Given the description of an element on the screen output the (x, y) to click on. 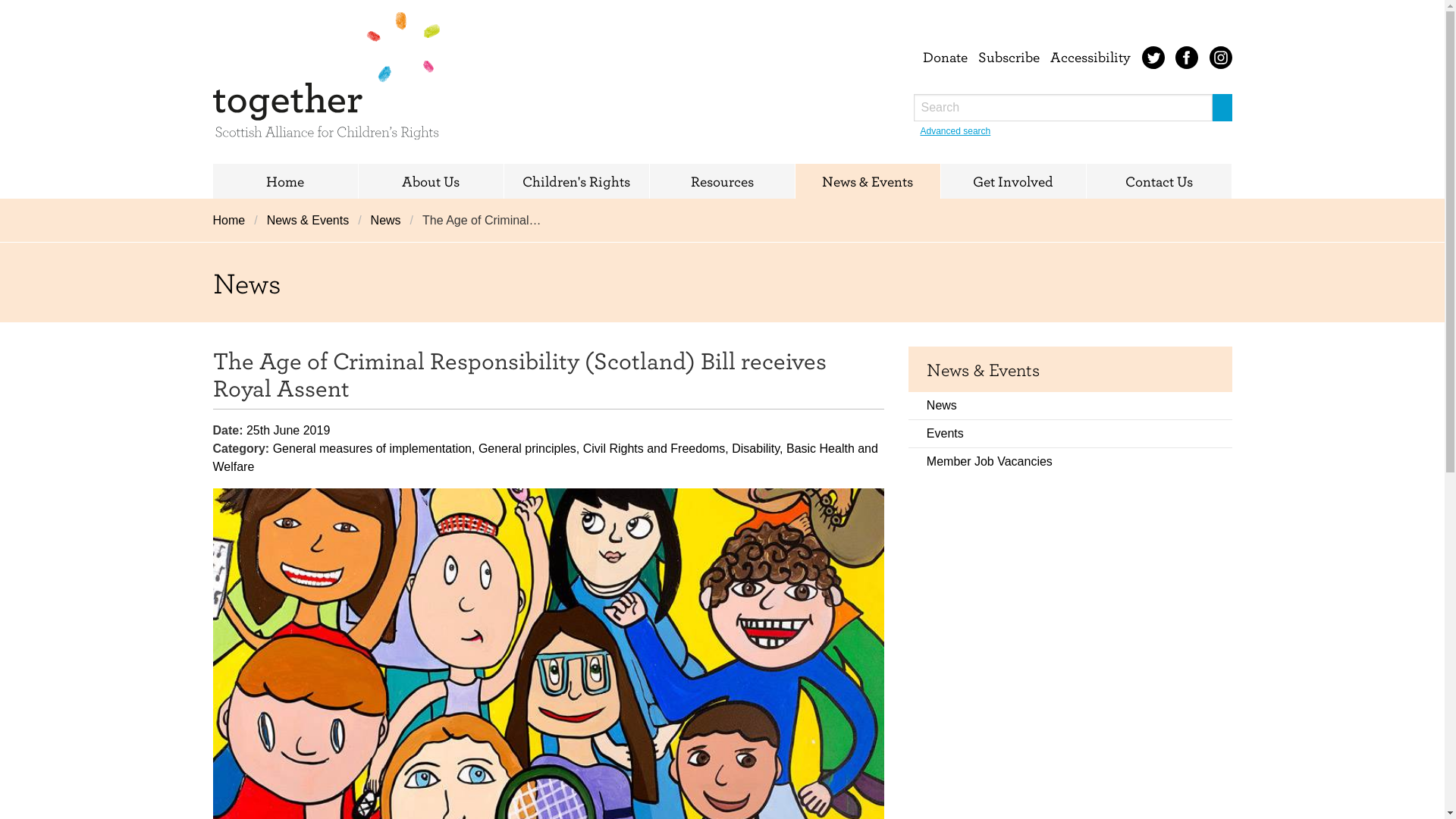
Member Job Vacancies (1069, 461)
Home (284, 181)
Contact Us (1158, 181)
Subscribe (1008, 56)
News (385, 220)
Resources (721, 181)
Get Involved (1012, 181)
Events (1069, 433)
About Us (430, 181)
Home (232, 220)
